Given the description of an element on the screen output the (x, y) to click on. 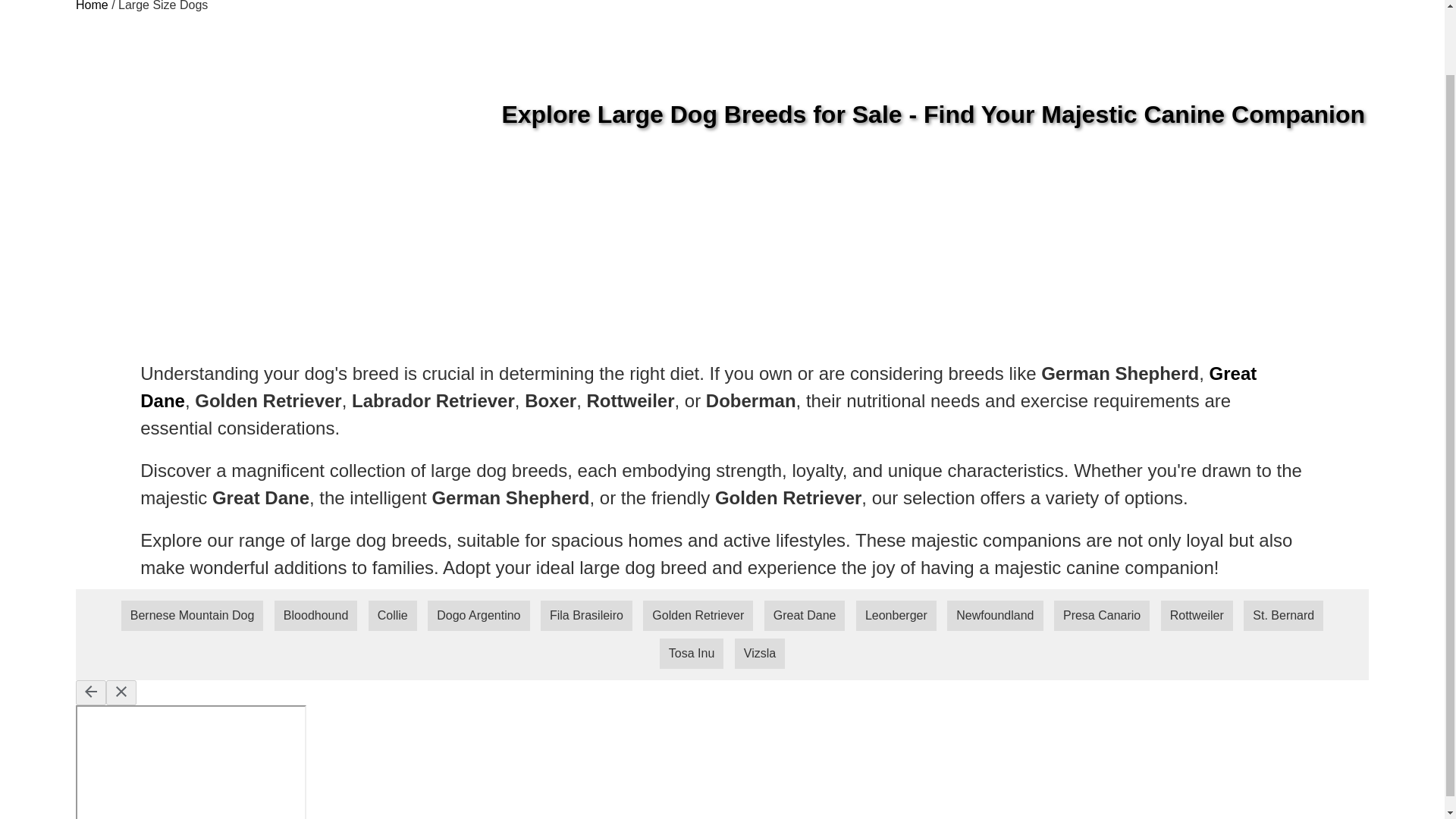
Bloodhound (315, 615)
Bernese Mountain Dog (191, 615)
Home (91, 5)
Collie (392, 615)
Great Dane (697, 387)
